Given the description of an element on the screen output the (x, y) to click on. 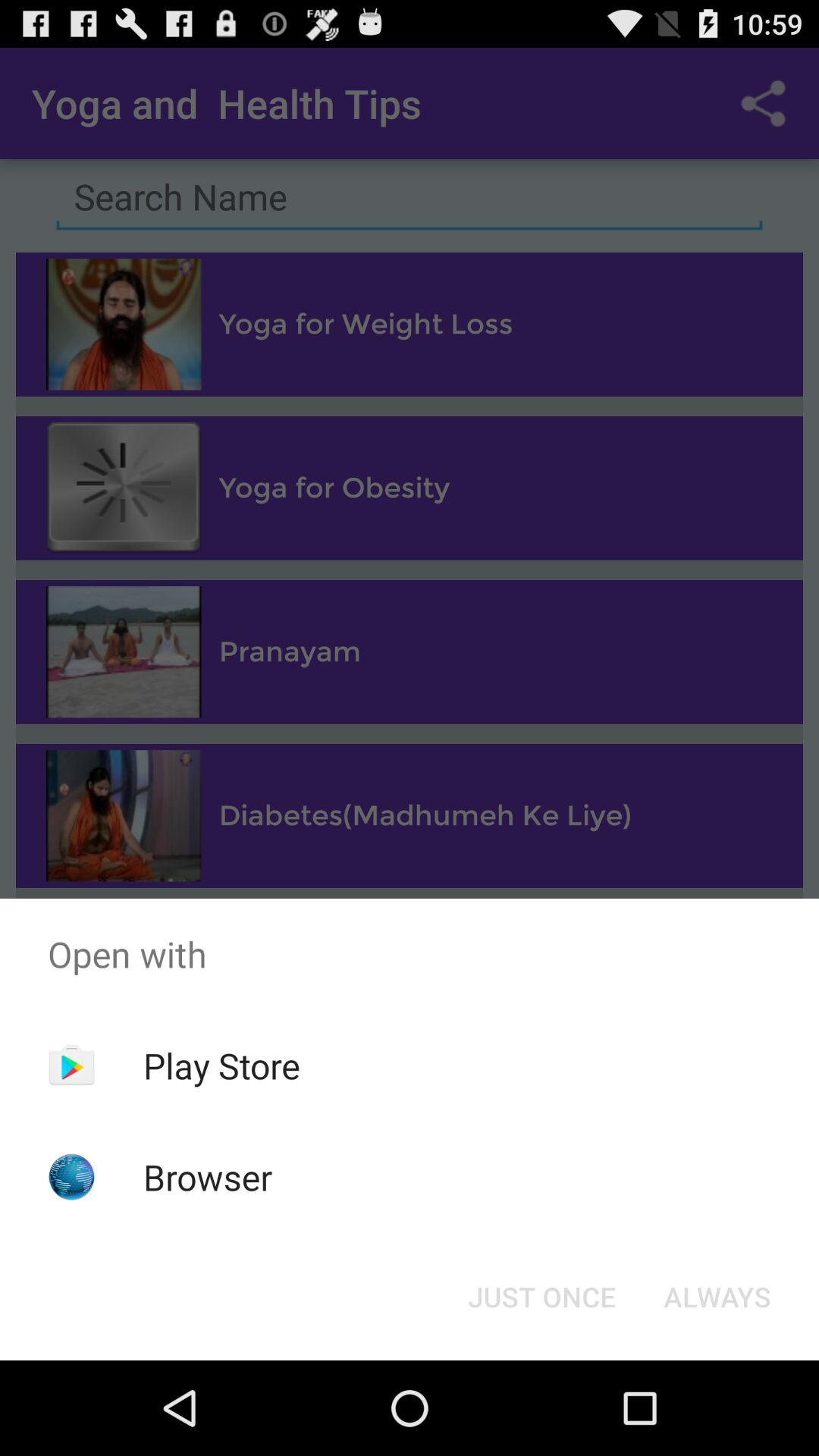
turn on play store app (221, 1065)
